Given the description of an element on the screen output the (x, y) to click on. 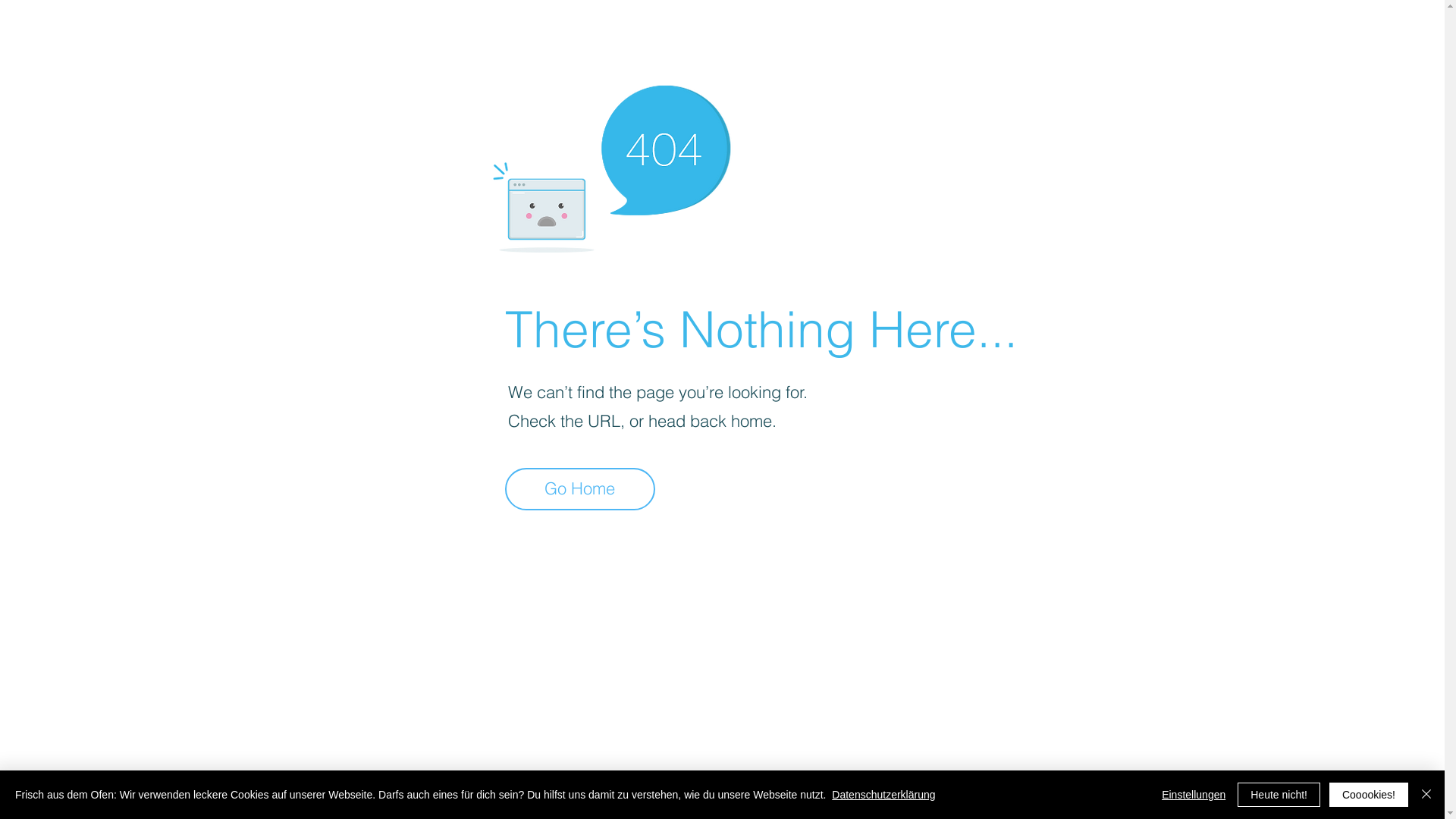
Heute nicht! Element type: text (1278, 794)
Go Home Element type: text (580, 488)
404-icon_2.png Element type: hover (610, 164)
Cooookies! Element type: text (1368, 794)
